Given the description of an element on the screen output the (x, y) to click on. 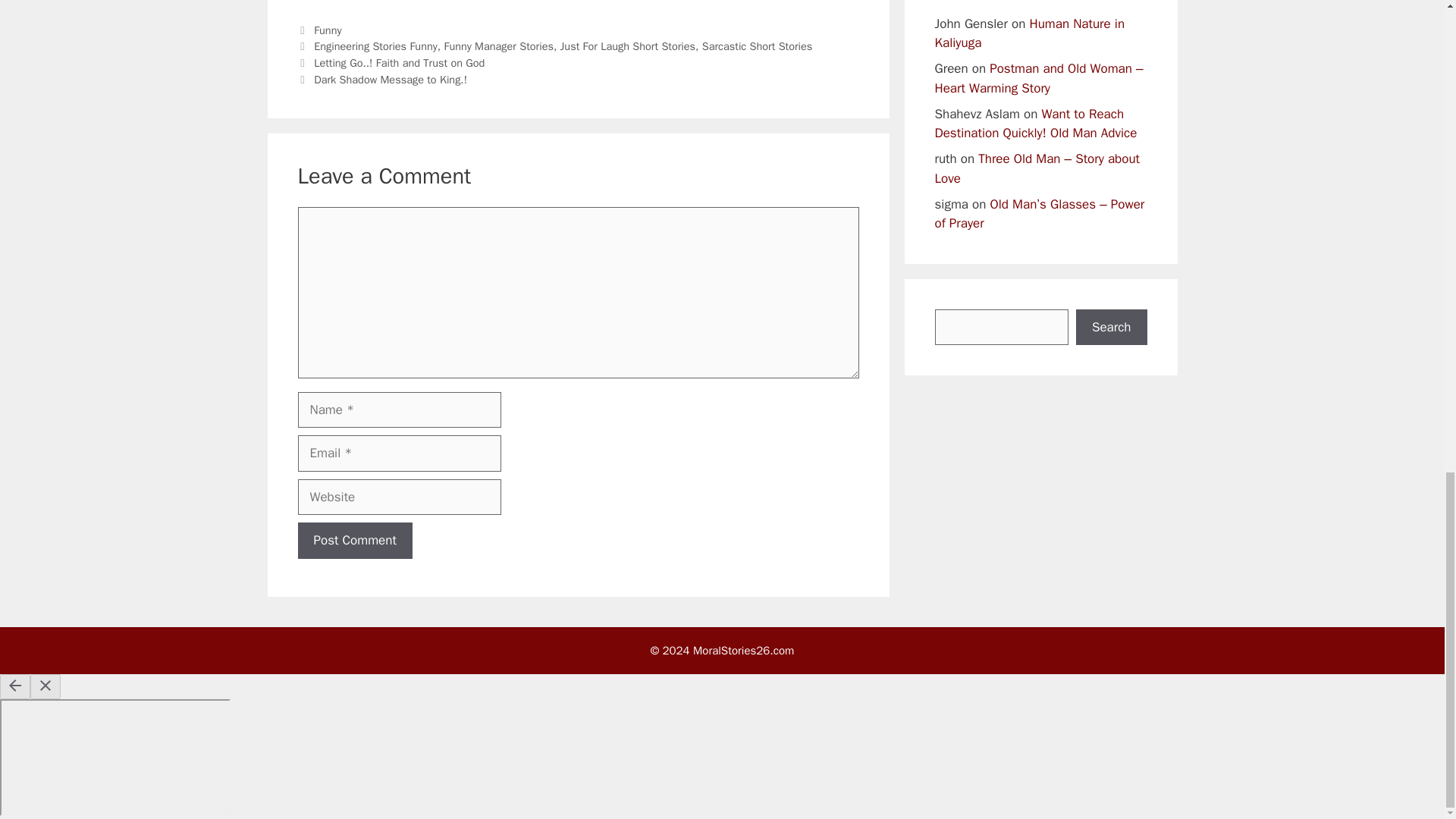
Scroll back to top (1406, 414)
Letting Go..! Faith and Trust on God (399, 62)
Post Comment (354, 540)
Dark Shadow Message to King.! (390, 79)
Funny Manager Stories (498, 46)
Post Comment (354, 540)
Engineering Stories Funny (376, 46)
Funny (327, 29)
Sarcastic Short Stories (756, 46)
Just For Laugh Short Stories (627, 46)
